Given the description of an element on the screen output the (x, y) to click on. 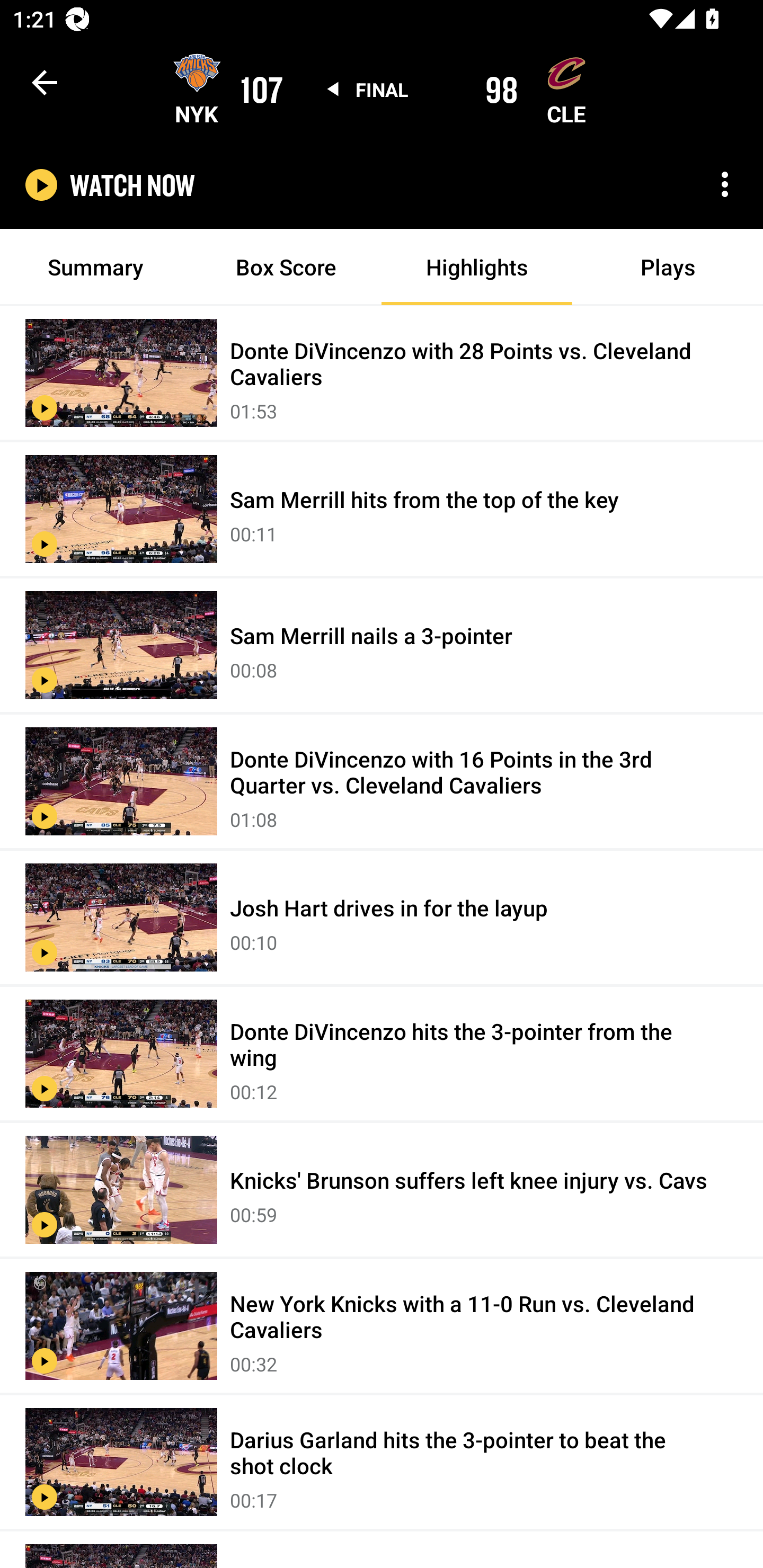
Navigate up (44, 82)
More options (724, 183)
WATCH NOW (132, 184)
Summary (95, 266)
Box Score (285, 266)
Plays (667, 266)
Sam Merrill hits from the top of the key 00:11 (381, 509)
Sam Merrill nails a 3-pointer 00:08 (381, 645)
Josh Hart drives in for the layup 00:10 (381, 918)
